Given the description of an element on the screen output the (x, y) to click on. 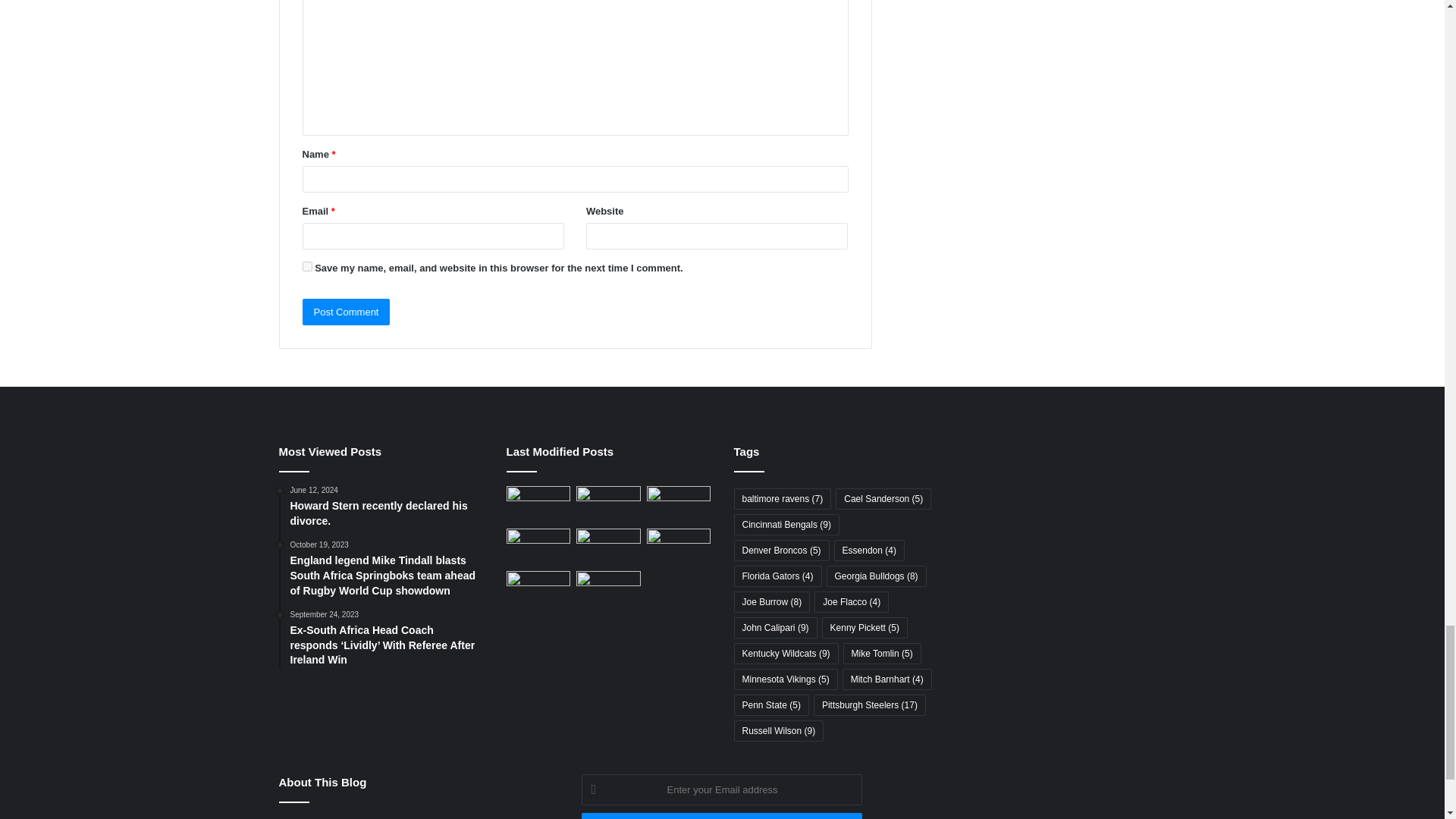
Subscribe (720, 816)
Post Comment (345, 311)
yes (306, 266)
